Given the description of an element on the screen output the (x, y) to click on. 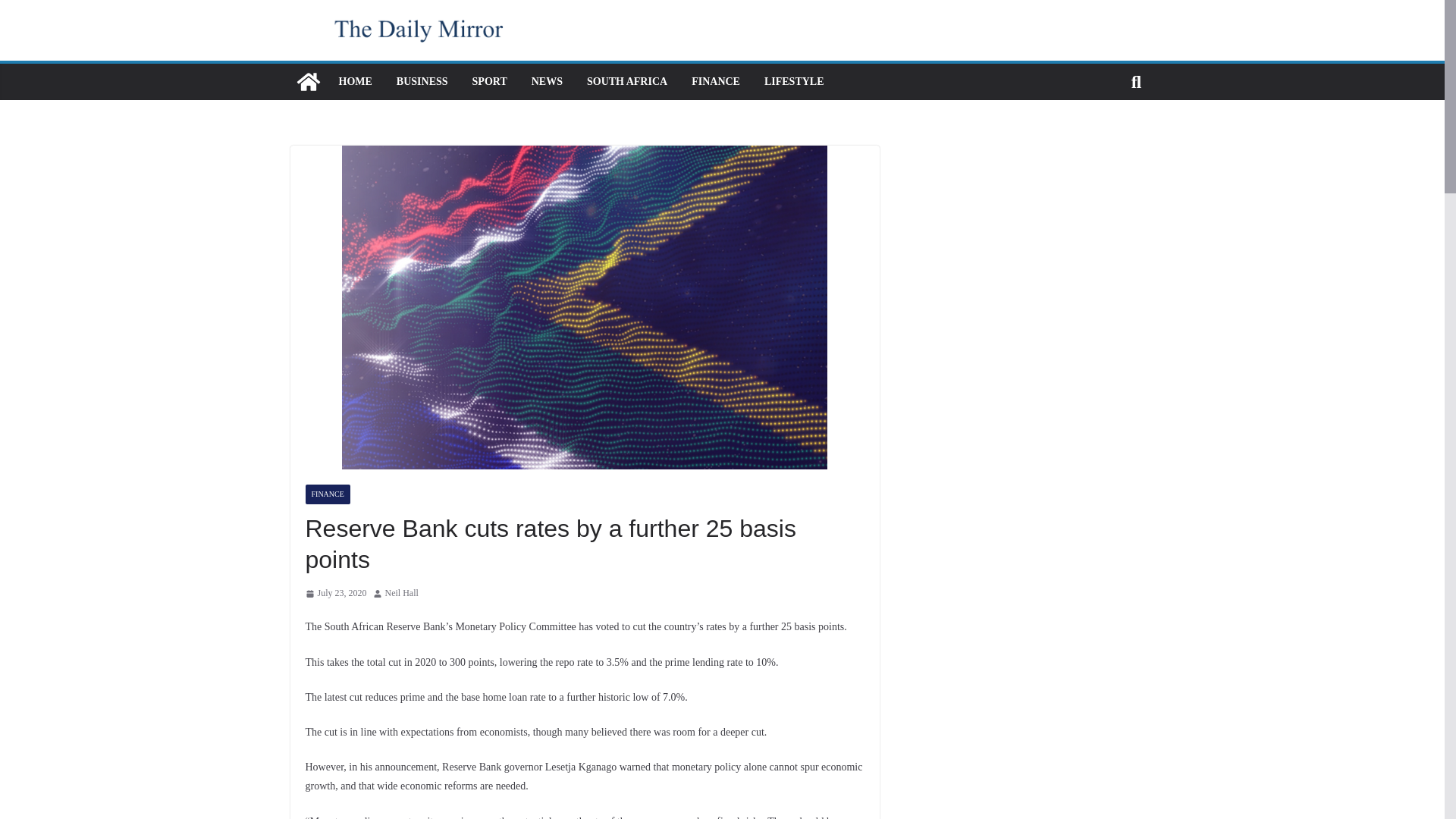
SOUTH AFRICA (626, 81)
SPORT (488, 81)
BUSINESS (422, 81)
LIFESTYLE (794, 81)
NEWS (546, 81)
HOME (354, 81)
FINANCE (715, 81)
The Daily Mirror (307, 81)
Neil Hall (402, 593)
Neil Hall (402, 593)
FINANCE (326, 494)
July 23, 2020 (335, 593)
1:36 pm (335, 593)
